Given the description of an element on the screen output the (x, y) to click on. 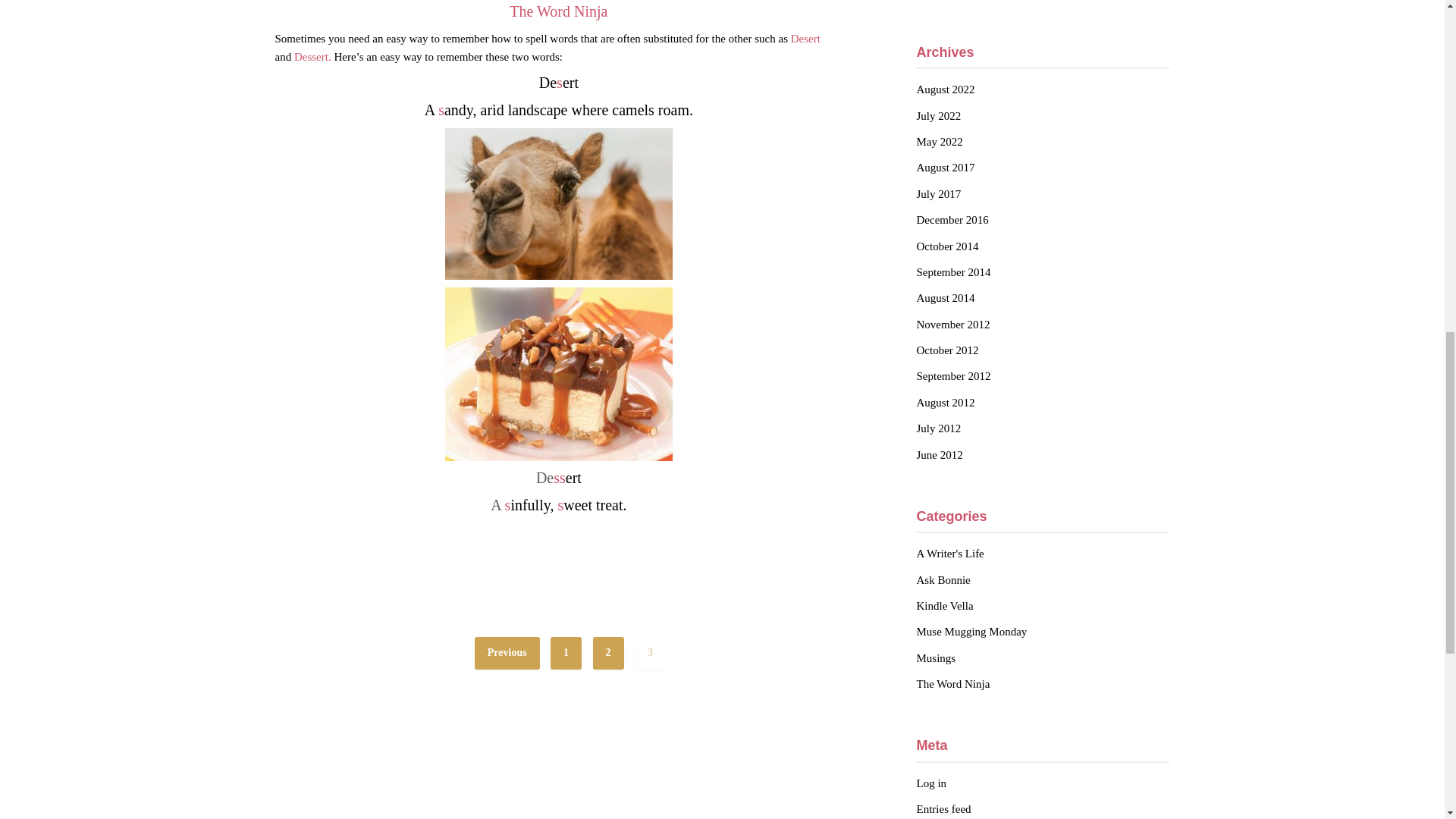
October 2012 (946, 349)
August 2022 (944, 89)
July 2012 (937, 428)
August 2014 (944, 297)
December 2016 (951, 219)
September 2012 (952, 376)
August 2012 (944, 402)
2 (608, 653)
November 2012 (952, 324)
October 2014 (946, 246)
